Given the description of an element on the screen output the (x, y) to click on. 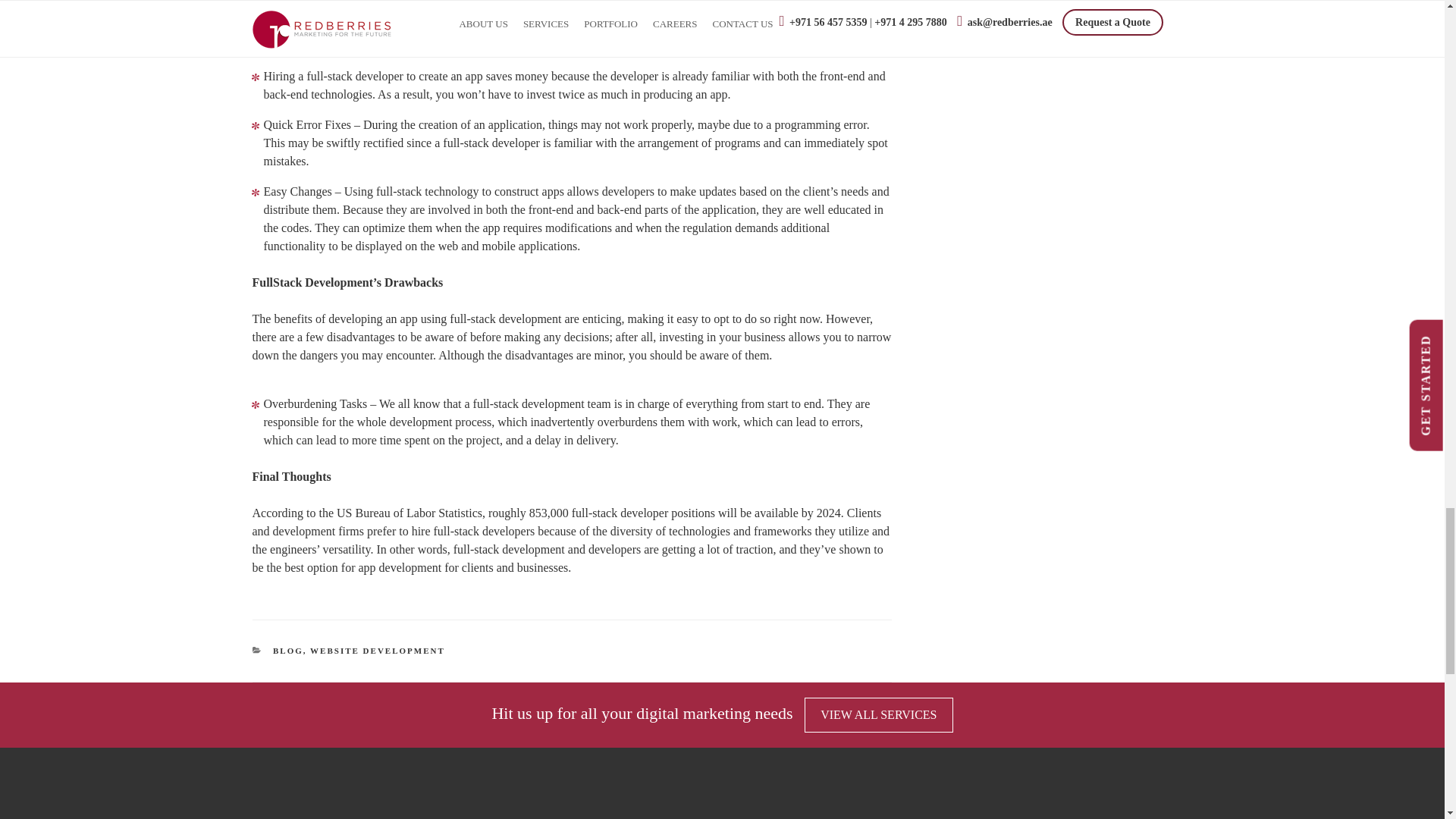
WEBSITE DEVELOPMENT (377, 650)
BLOG (287, 650)
